Given the description of an element on the screen output the (x, y) to click on. 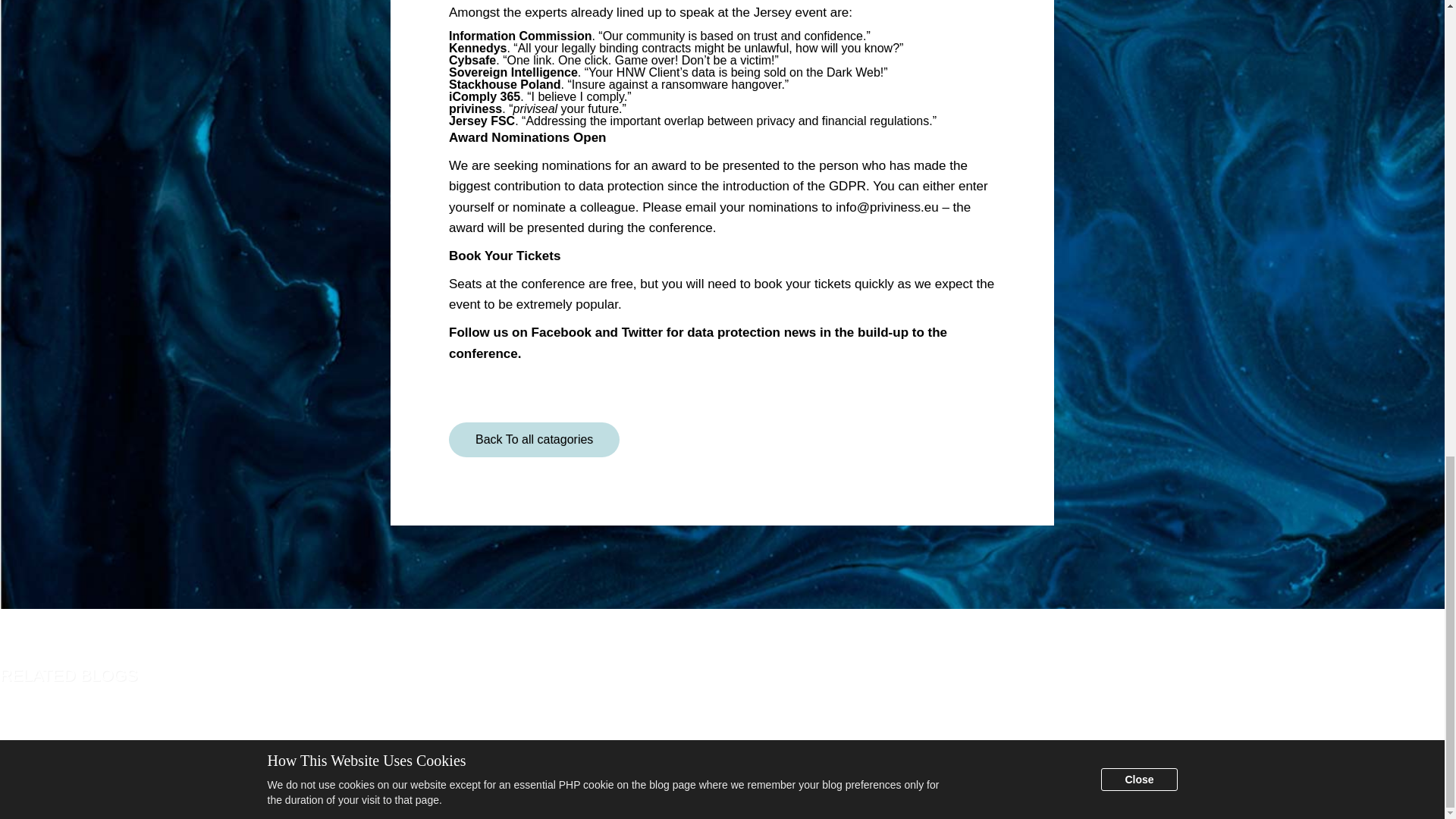
Back to All Catagoties (534, 439)
Back To all catagories (534, 439)
book your tickets (802, 283)
Facebook (561, 332)
Twitter (641, 332)
